Given the description of an element on the screen output the (x, y) to click on. 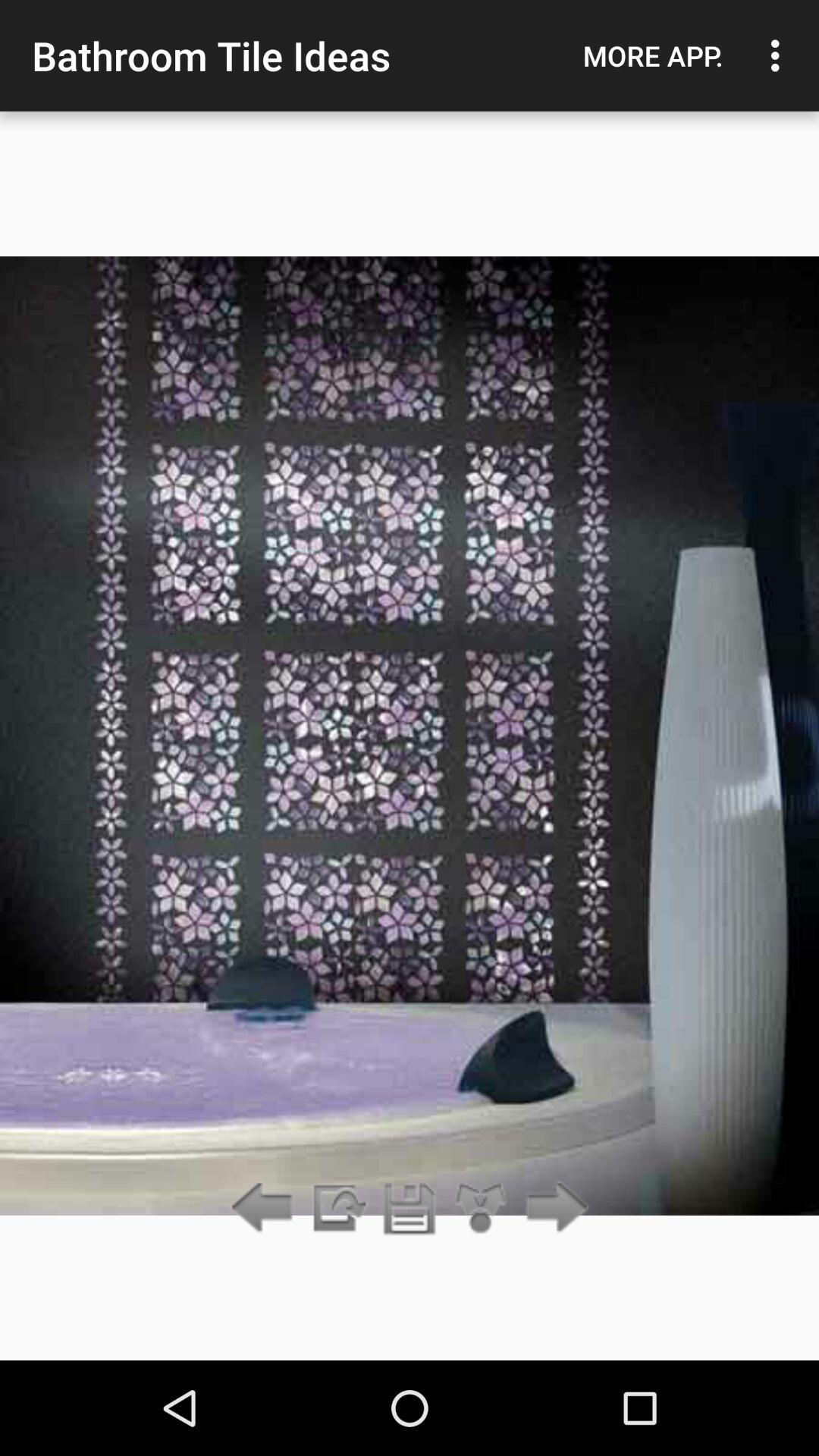
flip to the more app. icon (653, 55)
